Given the description of an element on the screen output the (x, y) to click on. 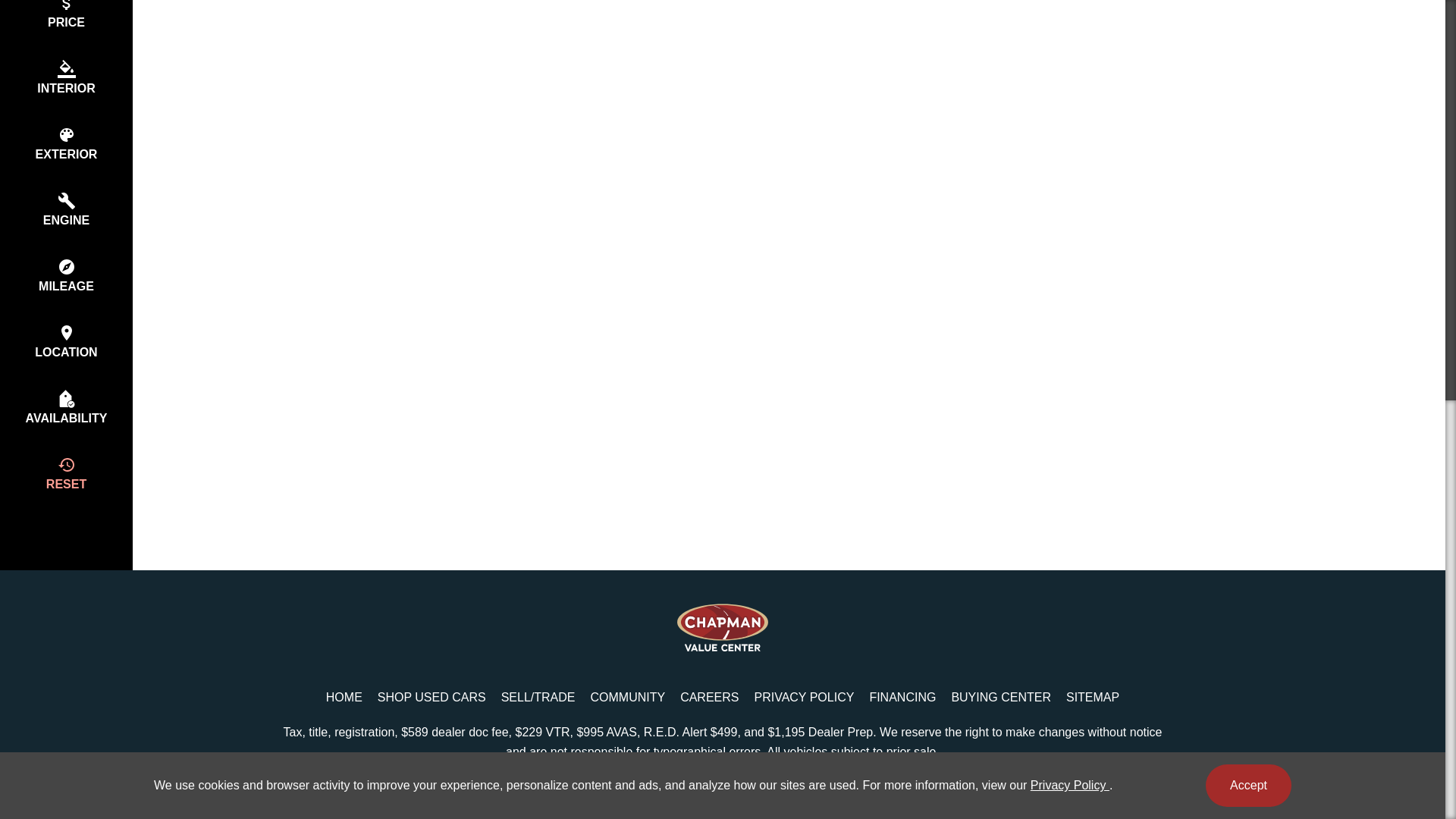
COMMUNITY (627, 697)
RESET (66, 473)
SHOP USED CARS (431, 697)
MILEAGE (66, 275)
EXTERIOR (66, 143)
AVAILABILITY (66, 407)
ENGINE (66, 209)
HOME (343, 697)
LOCATION (66, 341)
PRICE (66, 22)
INTERIOR (66, 77)
